Given the description of an element on the screen output the (x, y) to click on. 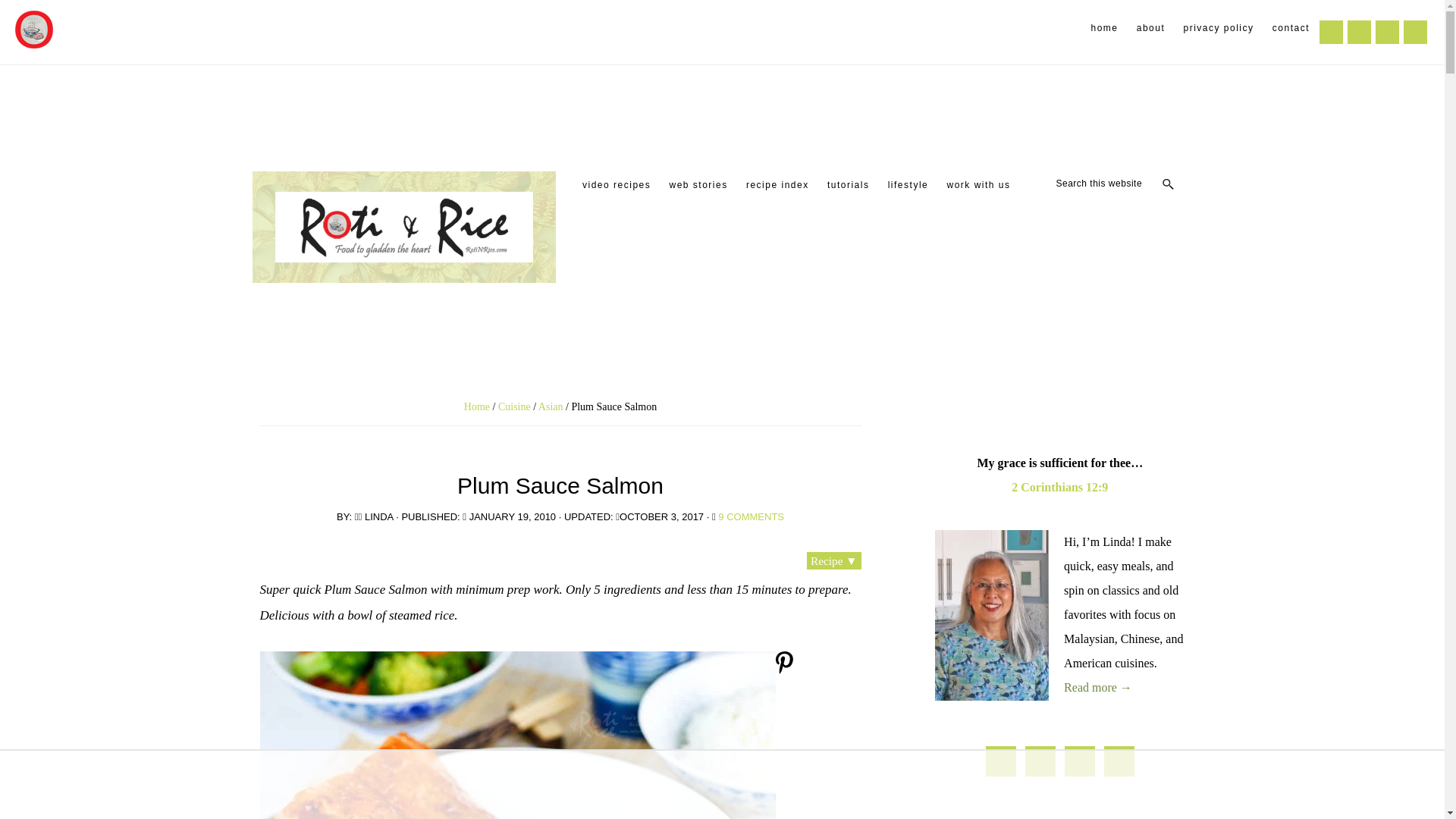
recipe index (777, 184)
video recipes (616, 184)
home (1104, 27)
contact (1291, 27)
web stories (698, 184)
about (1151, 27)
privacy policy (1219, 27)
